Given the description of an element on the screen output the (x, y) to click on. 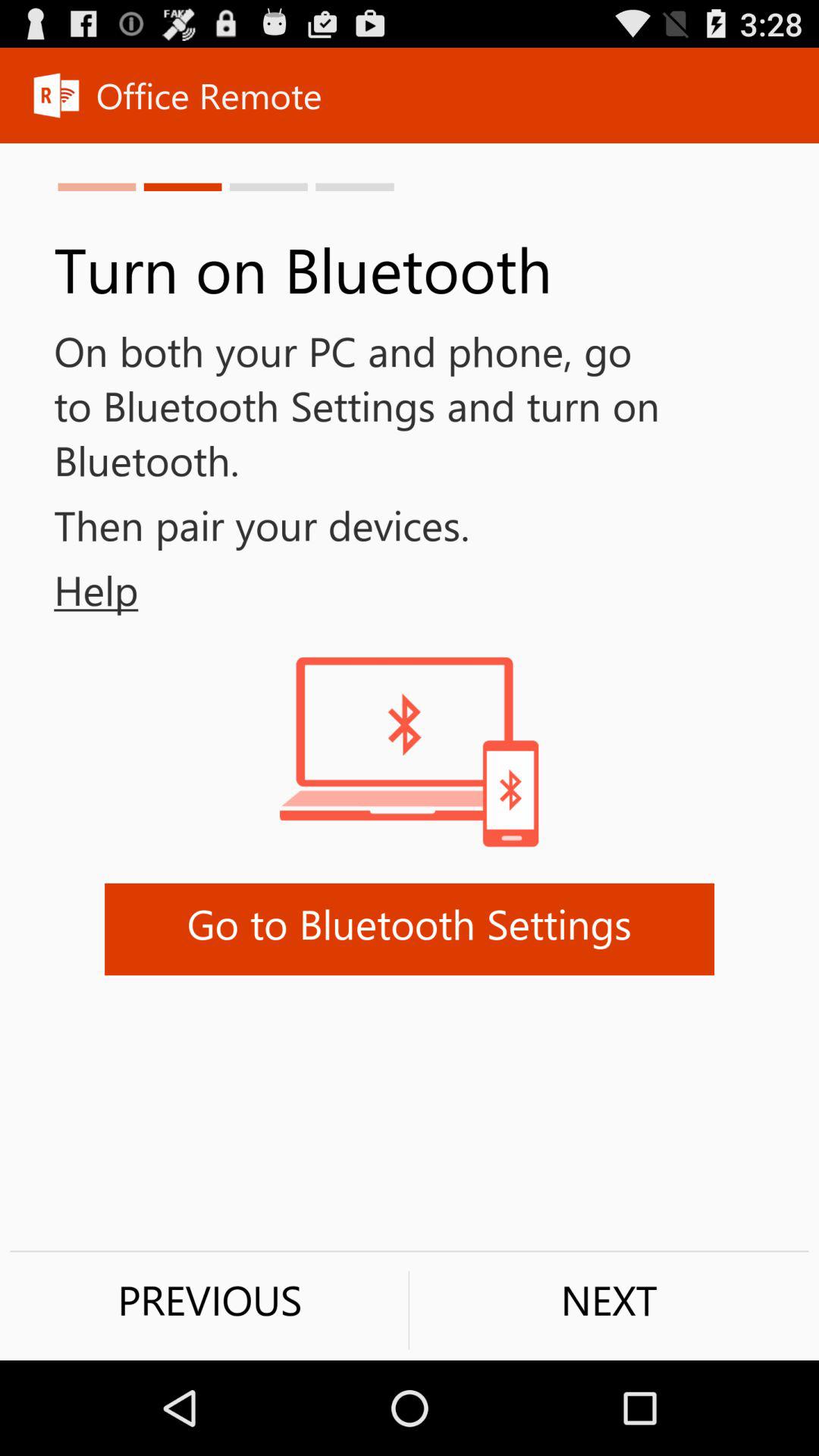
choose help item (69, 589)
